Given the description of an element on the screen output the (x, y) to click on. 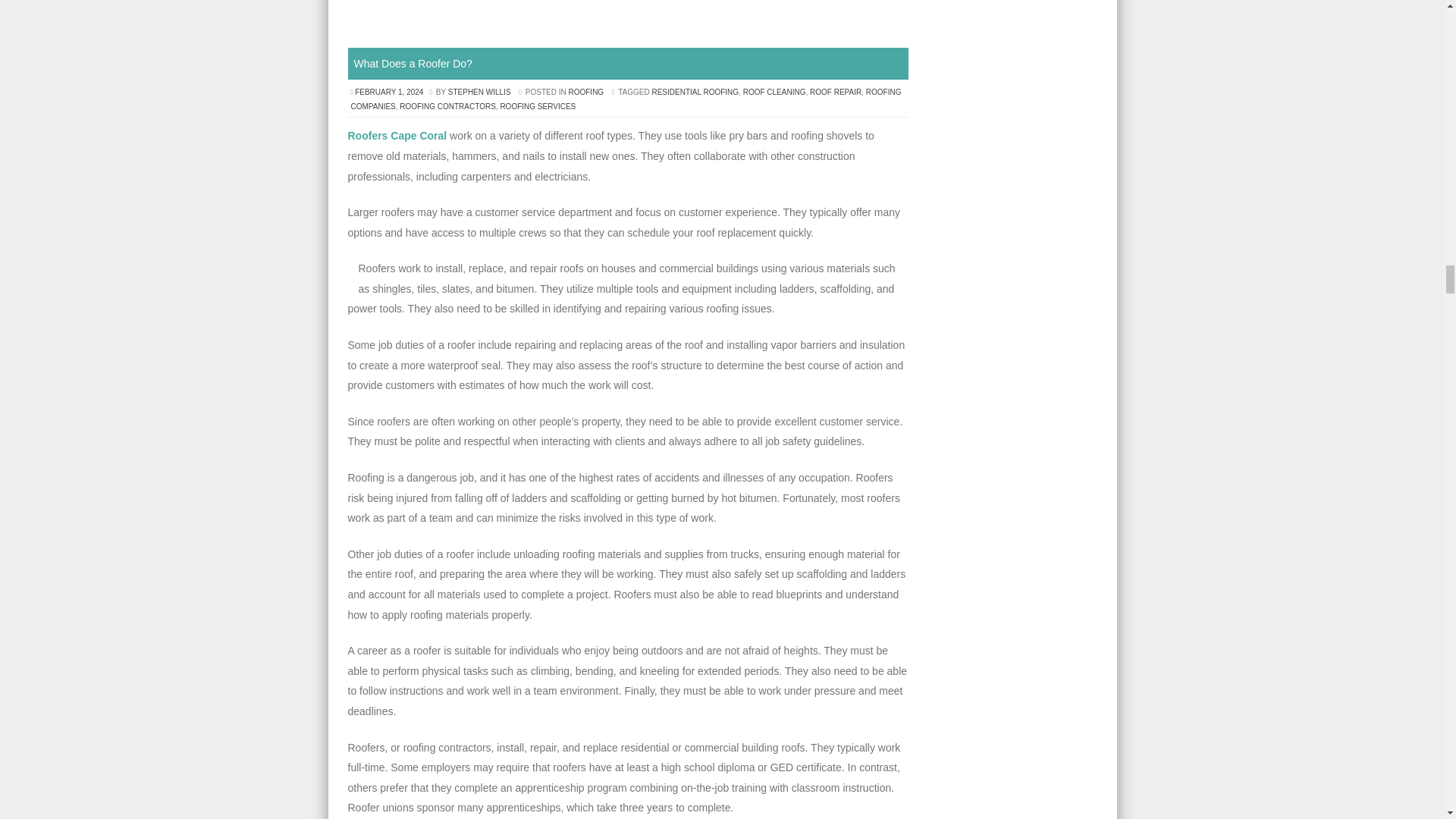
View all posts by Stephen Willis (479, 91)
2:48 pm (389, 91)
Permalink to What Does a Roofer Do? (412, 63)
